Given the description of an element on the screen output the (x, y) to click on. 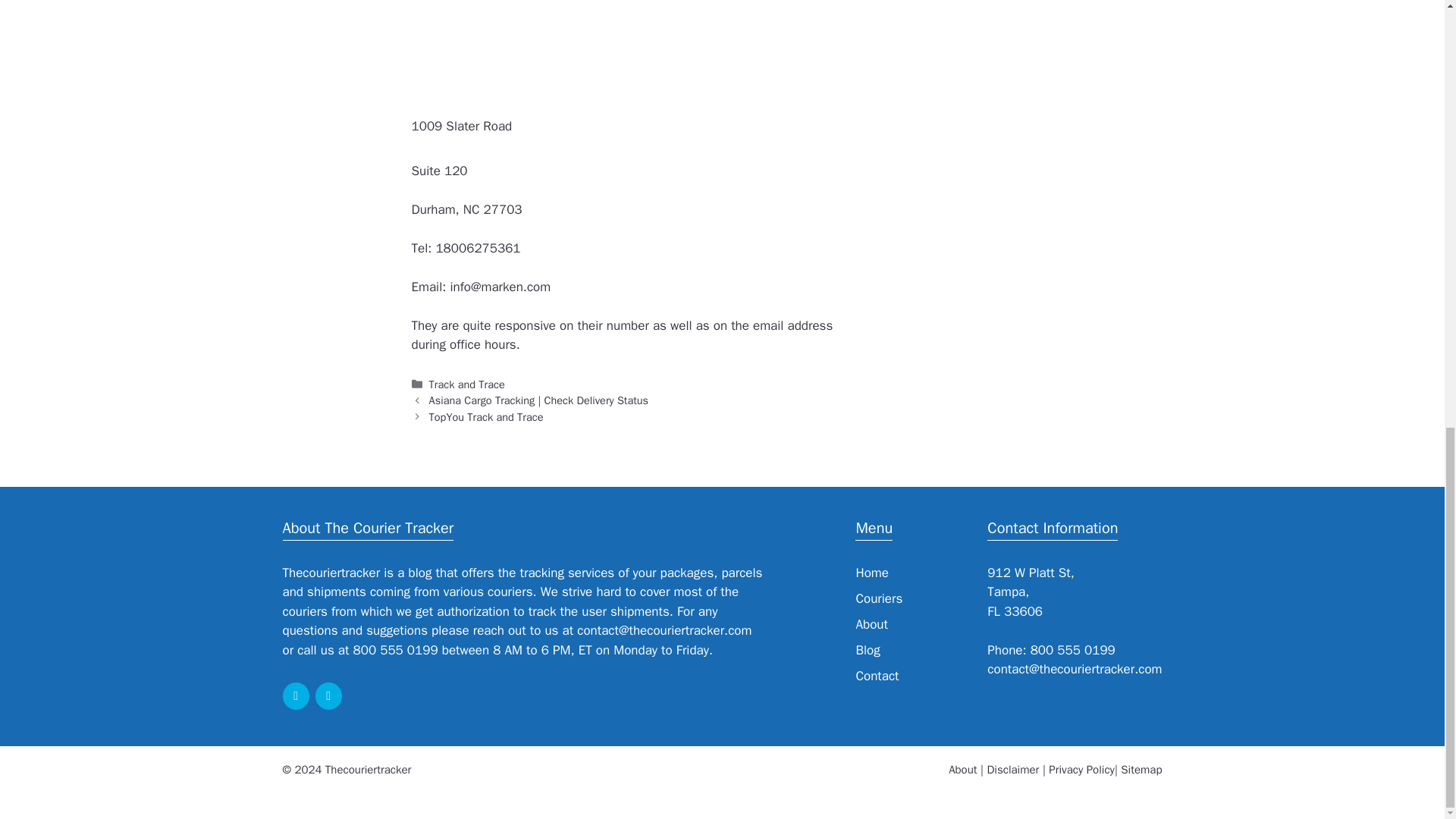
About (962, 769)
Disclaimer (1013, 769)
Twitter (328, 696)
Home (872, 572)
Privacy Policy (1081, 769)
Facebook (295, 696)
Contact (877, 675)
Couriers (879, 598)
Scroll back to top (1406, 641)
TopYou Track and Trace (486, 417)
